Given the description of an element on the screen output the (x, y) to click on. 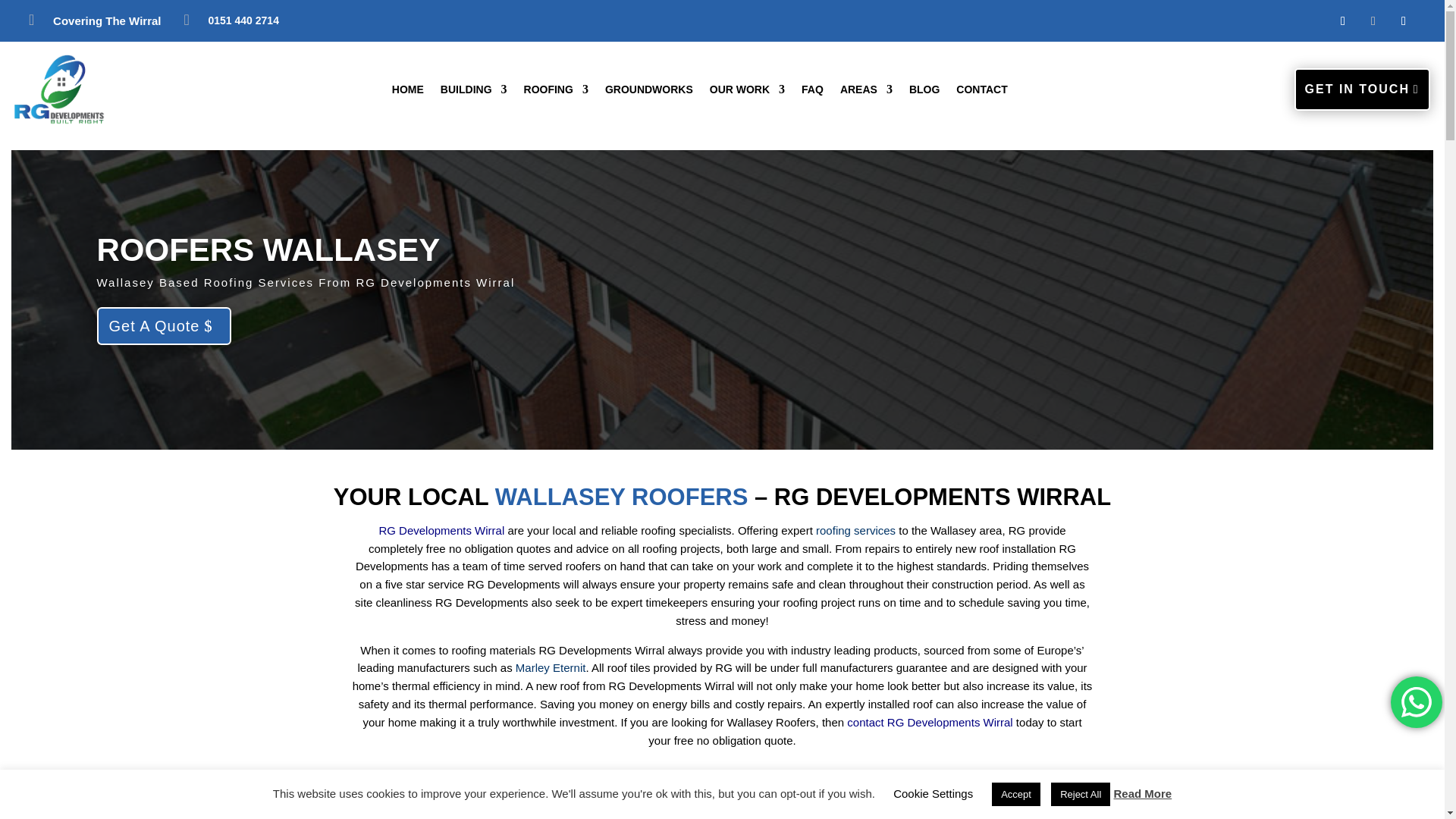
Follow on Instagram (1403, 21)
ROOFING (556, 92)
BUILDING (473, 92)
RG Developments Featured v1 (59, 89)
Follow on Facebook (1342, 21)
HOME (407, 92)
Follow on Google (1373, 21)
